Given the description of an element on the screen output the (x, y) to click on. 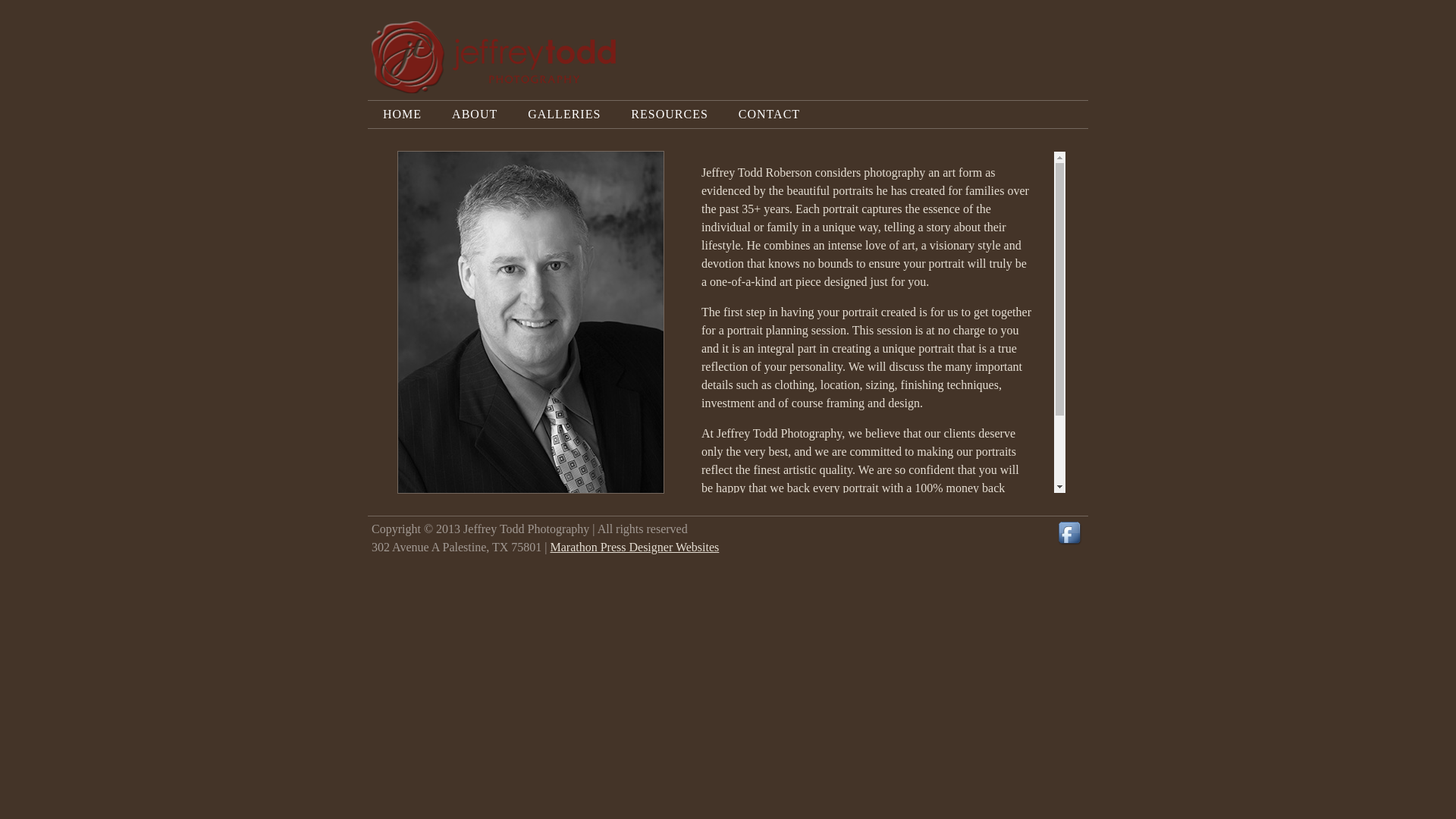
Marathon Press Designer Websites (634, 546)
RESOURCES (668, 113)
GALLERIES (563, 113)
ABOUT (474, 113)
HOME (402, 113)
CONTACT (769, 113)
